Given the description of an element on the screen output the (x, y) to click on. 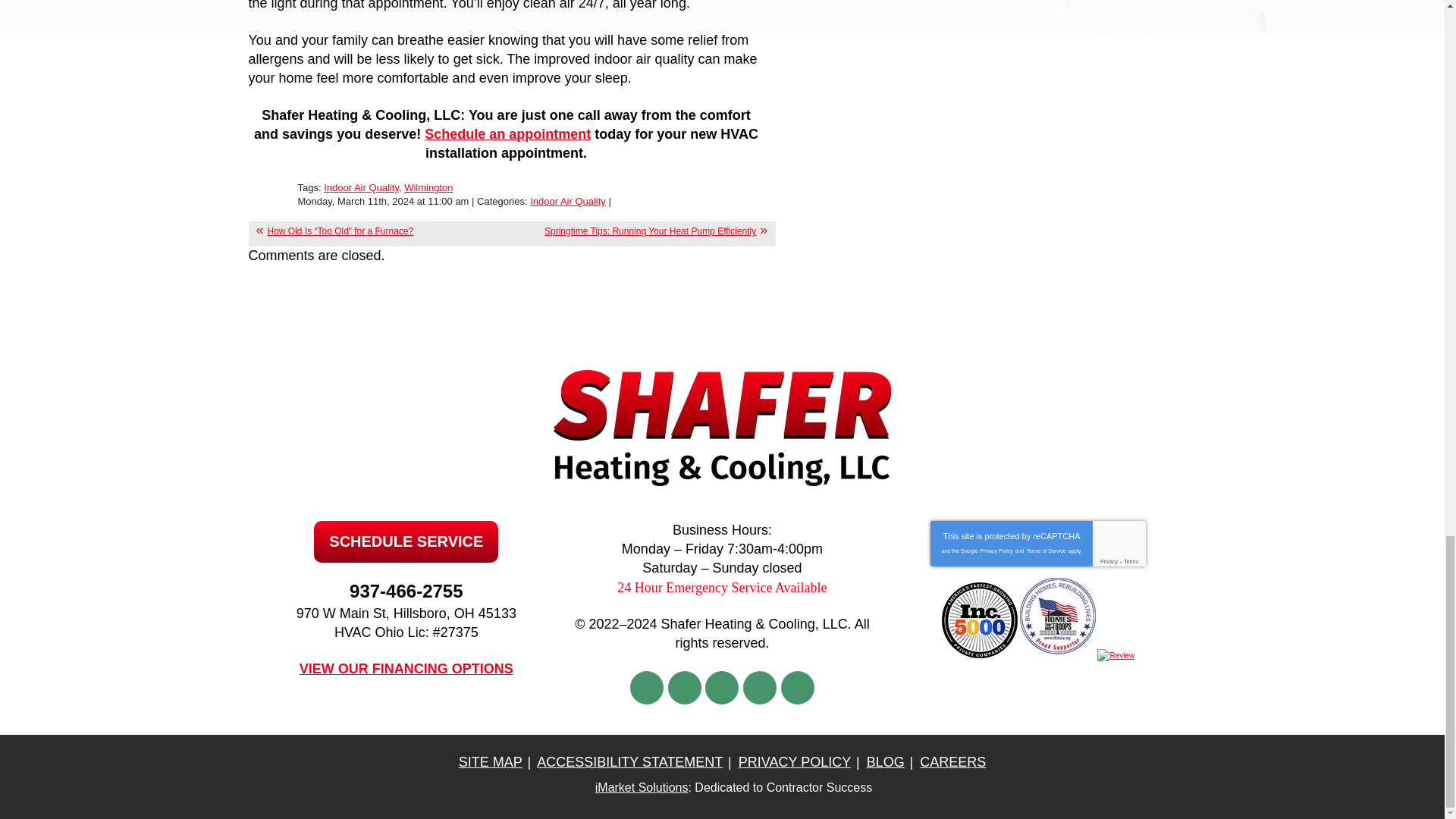
Rating and Review (1115, 655)
